Given the description of an element on the screen output the (x, y) to click on. 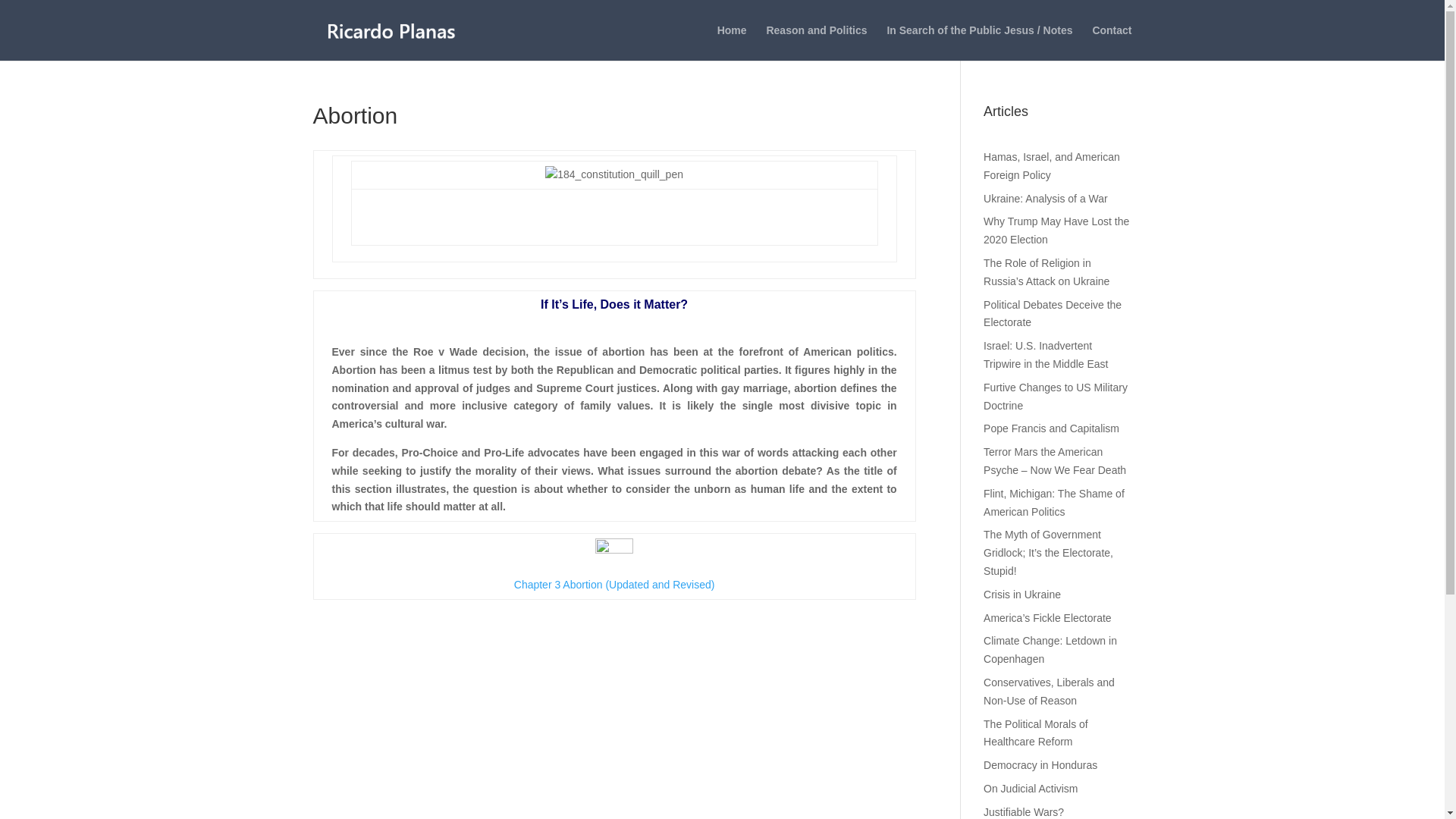
Reason and Politics (815, 42)
Furtive Changes to US Military Doctrine (1055, 396)
Political Debates Deceive the Electorate (1052, 313)
Contact (1111, 42)
Climate Change: Letdown in Copenhagen (1050, 649)
The Political Morals of Healthcare Reform (1035, 733)
Ukraine: Analysis of a War (1046, 198)
Democracy in Honduras (1040, 765)
On Judicial Activism (1030, 788)
Justifiable Wars? (1024, 811)
Why Trump May Have Lost the 2020 Election (1056, 230)
Conservatives, Liberals and Non-Use of Reason (1049, 691)
Crisis in Ukraine (1022, 594)
Pope Francis and Capitalism (1051, 428)
Flint, Michigan: The Shame of American Politics (1054, 502)
